Given the description of an element on the screen output the (x, y) to click on. 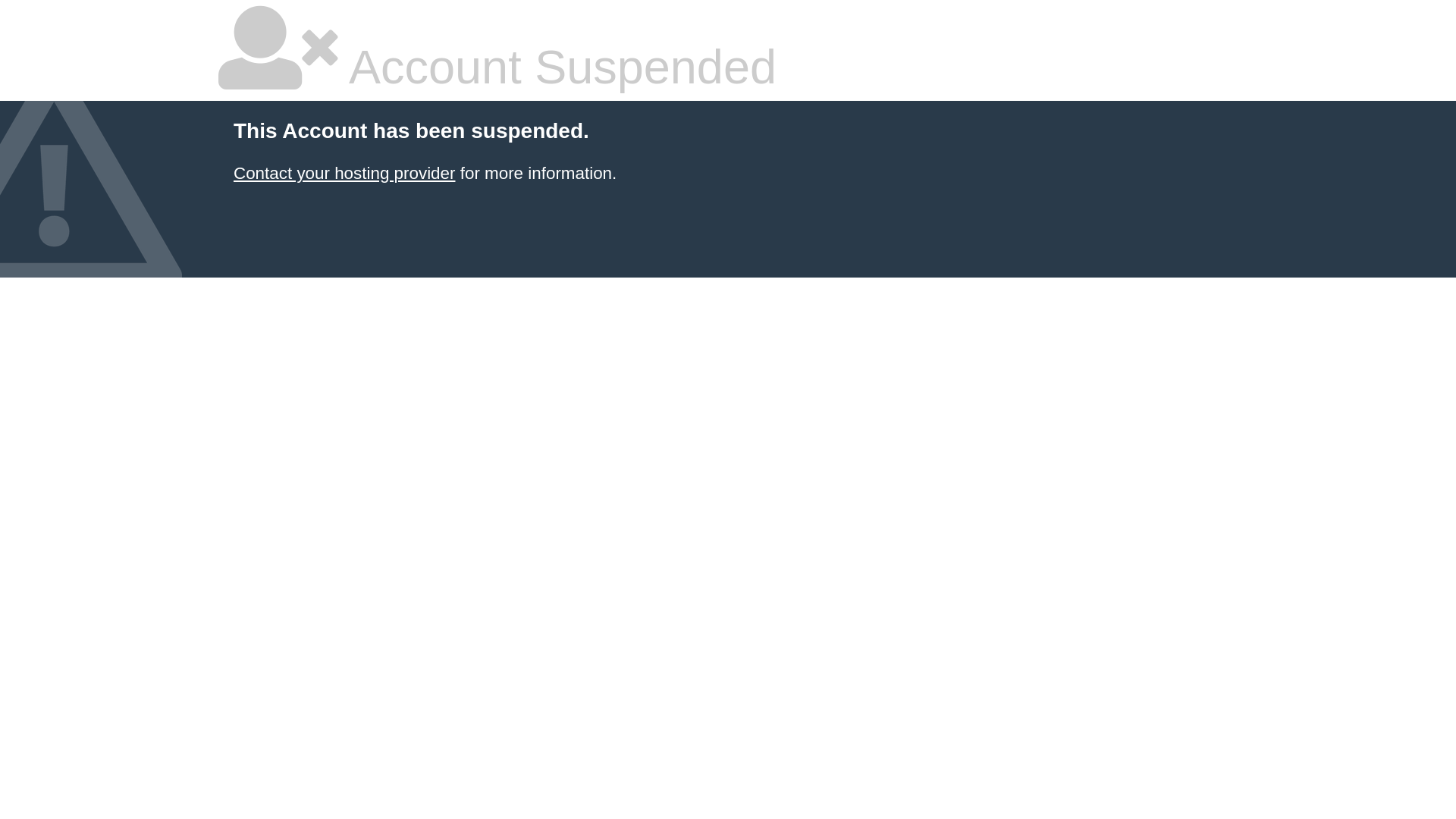
Contact your hosting provider Element type: text (344, 172)
